Given the description of an element on the screen output the (x, y) to click on. 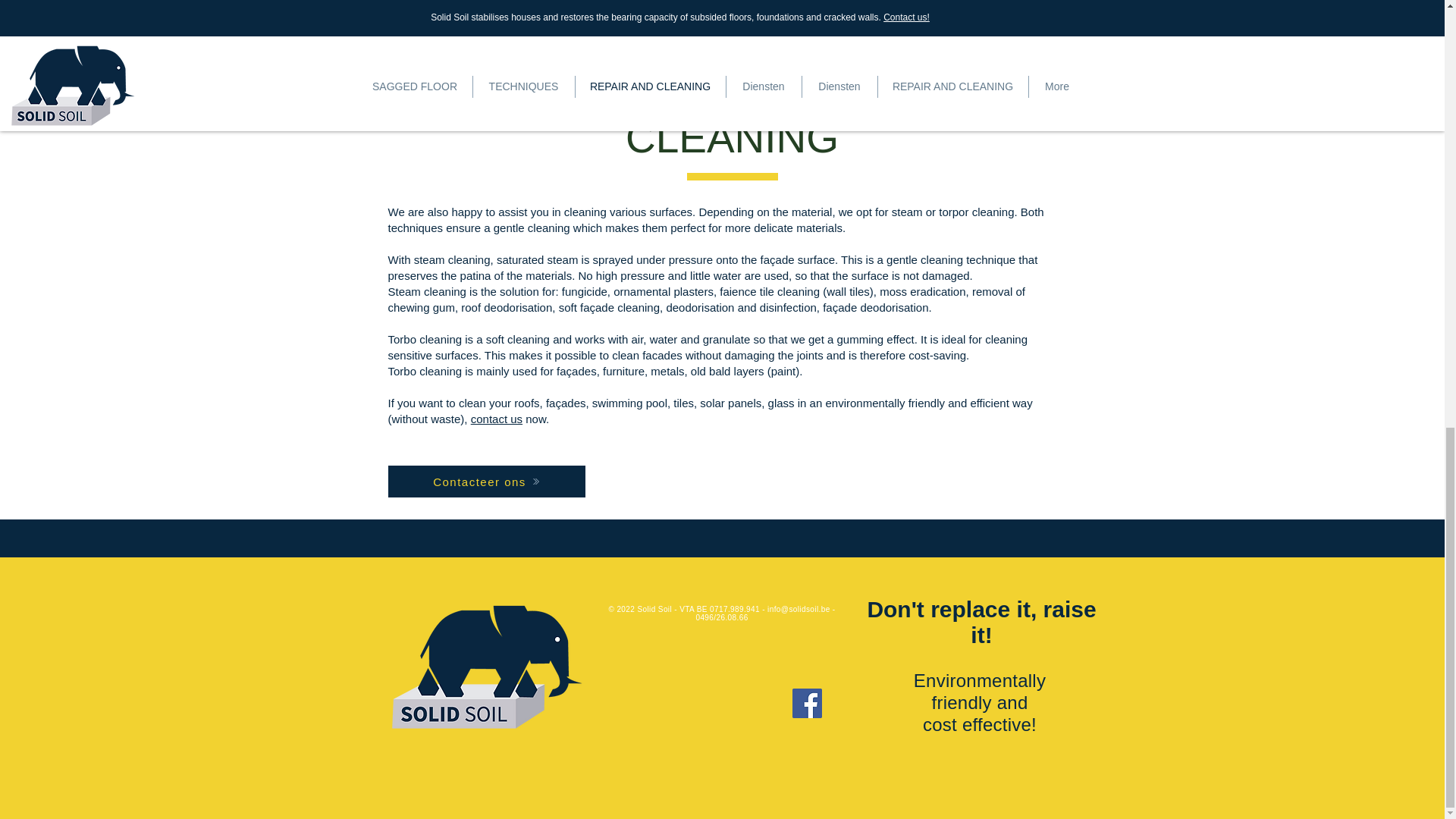
Contacteer ons (479, 32)
contact us (496, 418)
Contacteer ons (486, 481)
